Given the description of an element on the screen output the (x, y) to click on. 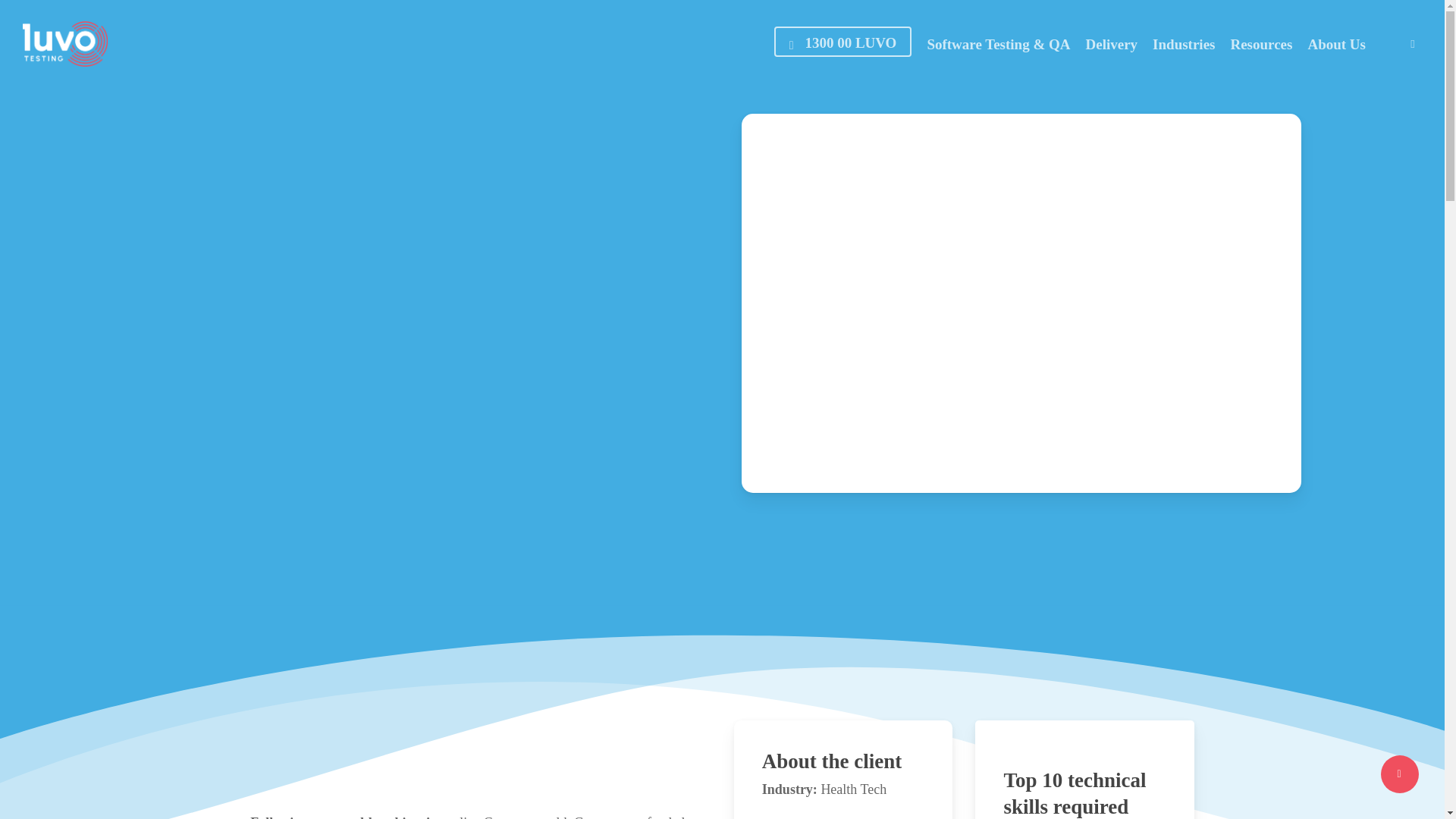
Delivery (1112, 44)
Industries (1183, 44)
1300 00 LUVO (843, 43)
About Us (1336, 44)
search (1412, 44)
Resources (1261, 44)
